Given the description of an element on the screen output the (x, y) to click on. 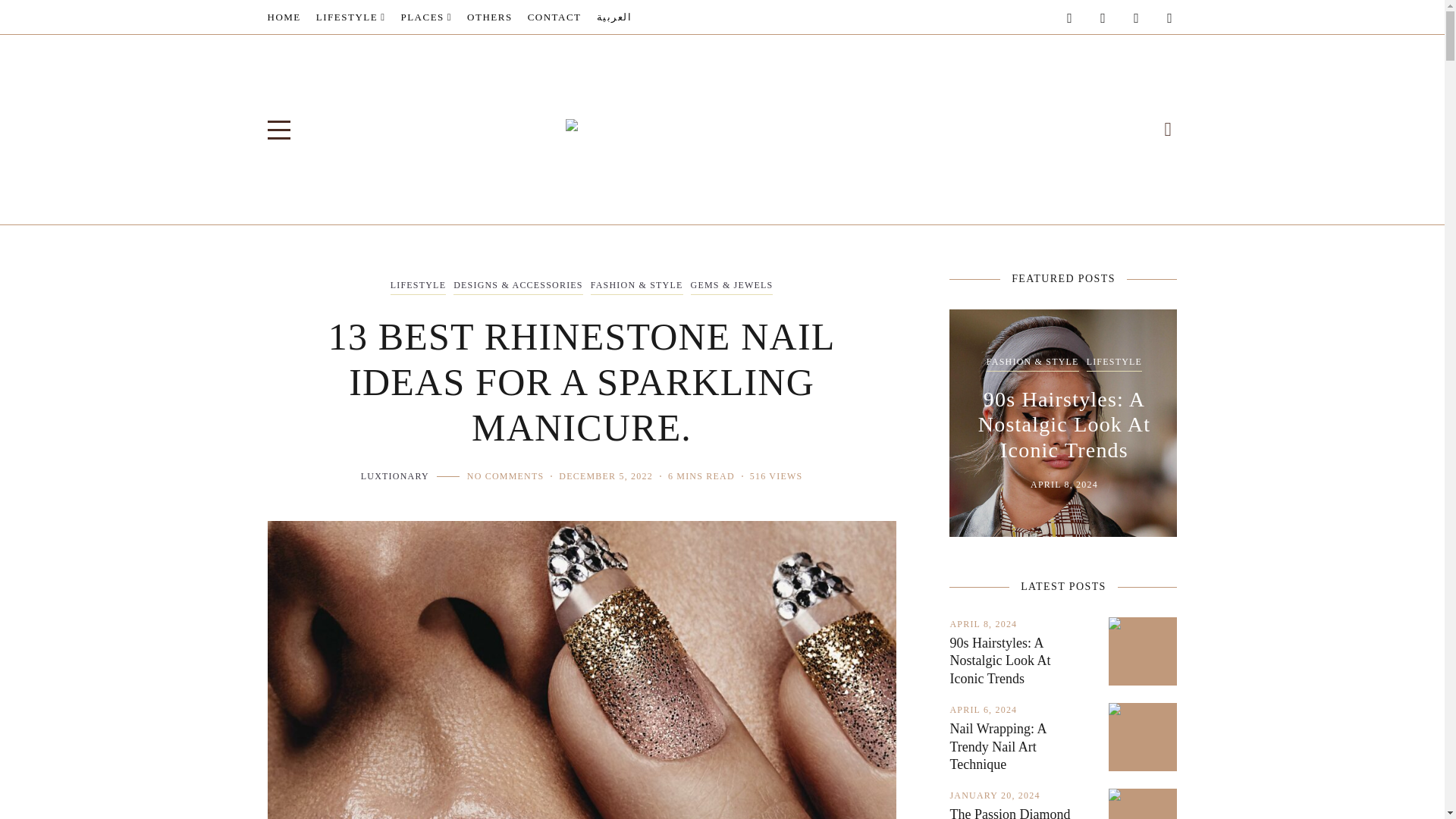
LIFESTYLE (350, 17)
CONTACT (554, 17)
Twitter (1135, 17)
HOME (283, 17)
OTHERS (489, 17)
Facebook (1069, 17)
LinkedIn (1169, 17)
Instagram (1102, 17)
PLACES (426, 17)
